Given the description of an element on the screen output the (x, y) to click on. 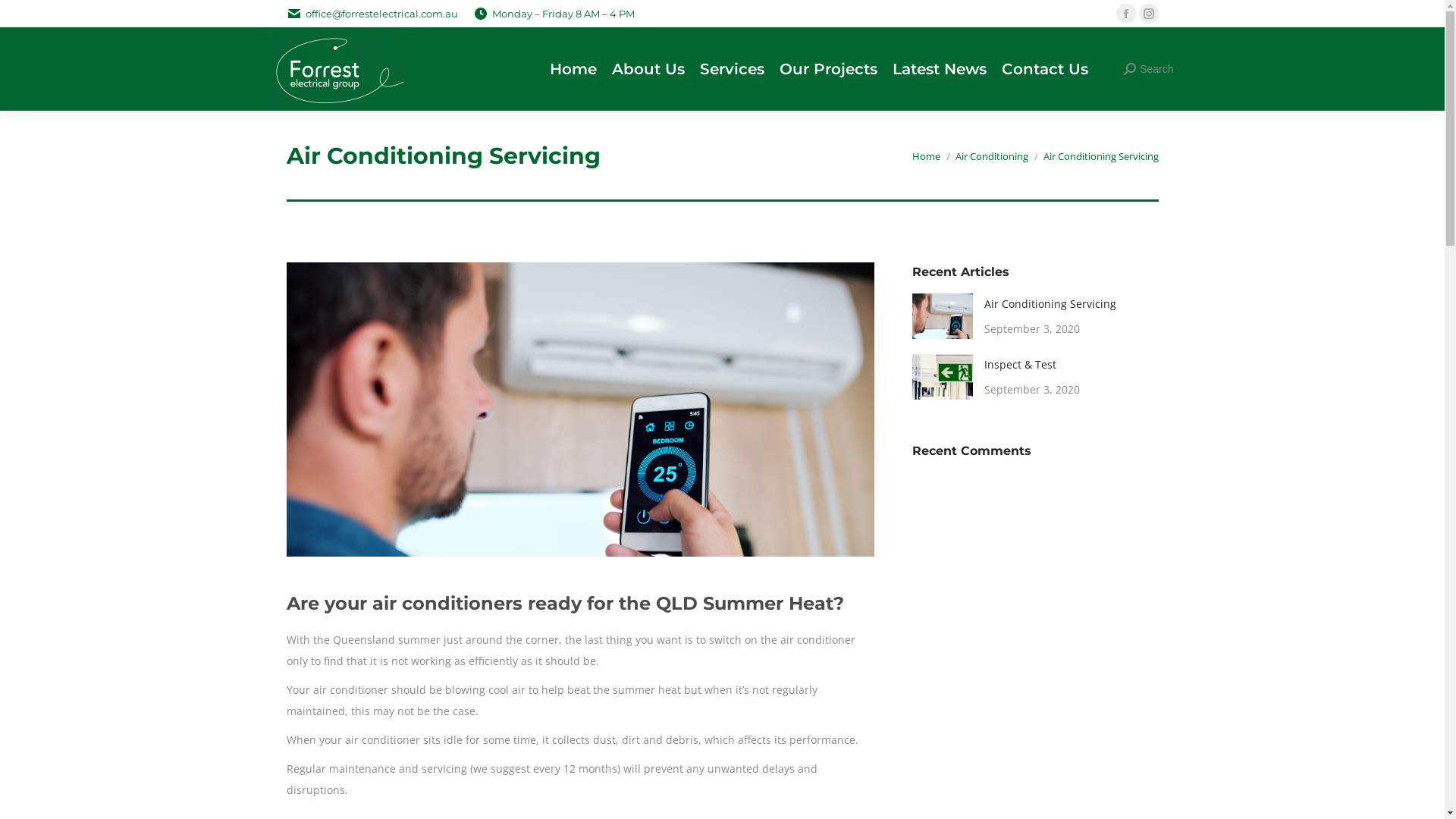
Home Element type: text (925, 156)
Go! Element type: text (24, 16)
Air Conditioning Element type: text (991, 156)
office@forrestelectrical.com.au Element type: text (372, 13)
Our Projects Element type: text (835, 68)
Instagram page opens in new window Element type: text (1148, 13)
Facebook page opens in new window Element type: text (1125, 13)
Air Conditioning Servicing Element type: text (1050, 303)
Inspect & Test Element type: text (1020, 364)
Services Element type: text (739, 68)
Latest News Element type: text (946, 68)
Search Element type: text (1148, 68)
Home Element type: text (580, 68)
Contact Us Element type: text (1052, 68)
About Us Element type: text (655, 68)
Post Comment Element type: text (56, 16)
